Given the description of an element on the screen output the (x, y) to click on. 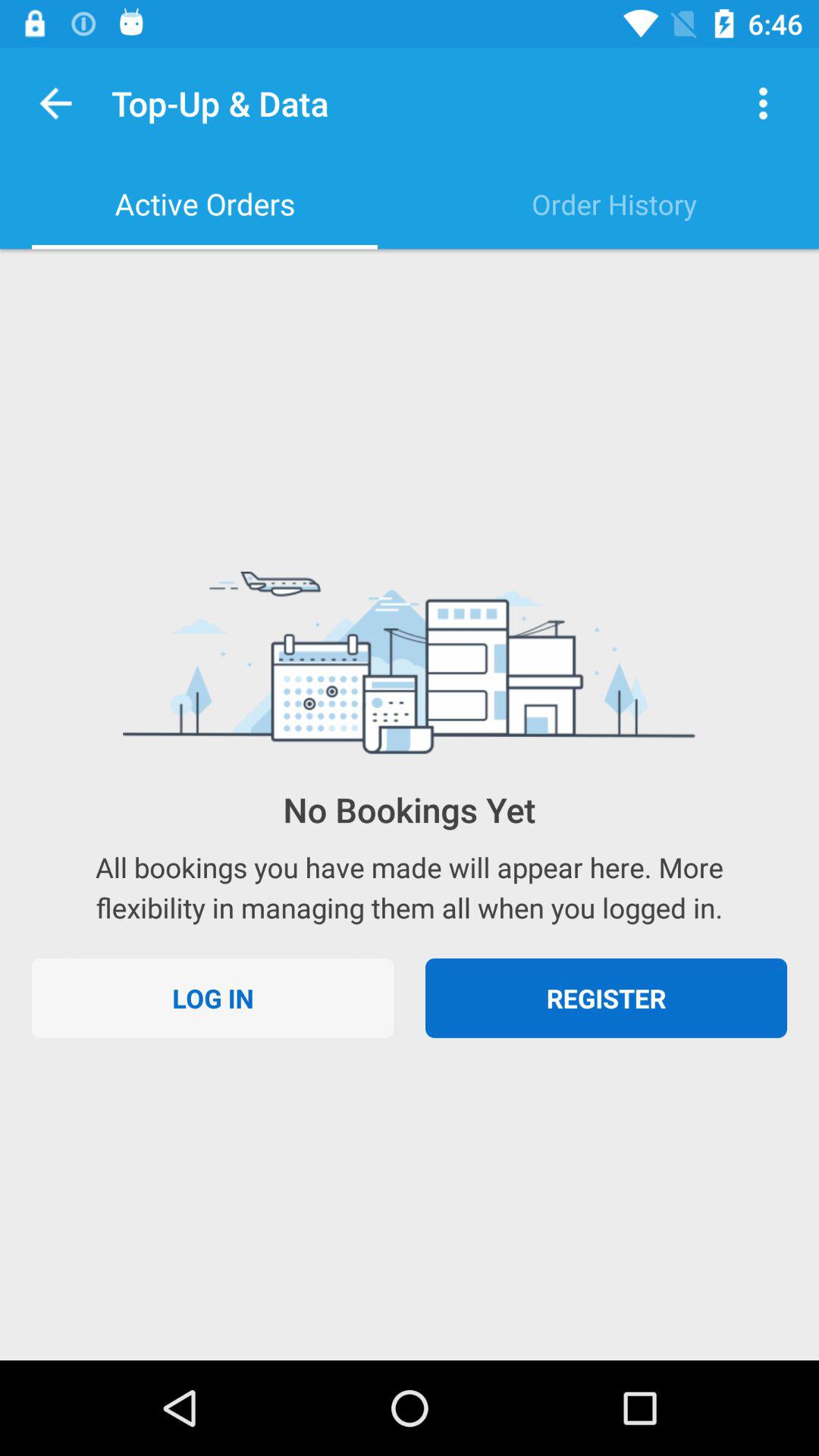
jump until the active orders (204, 204)
